Given the description of an element on the screen output the (x, y) to click on. 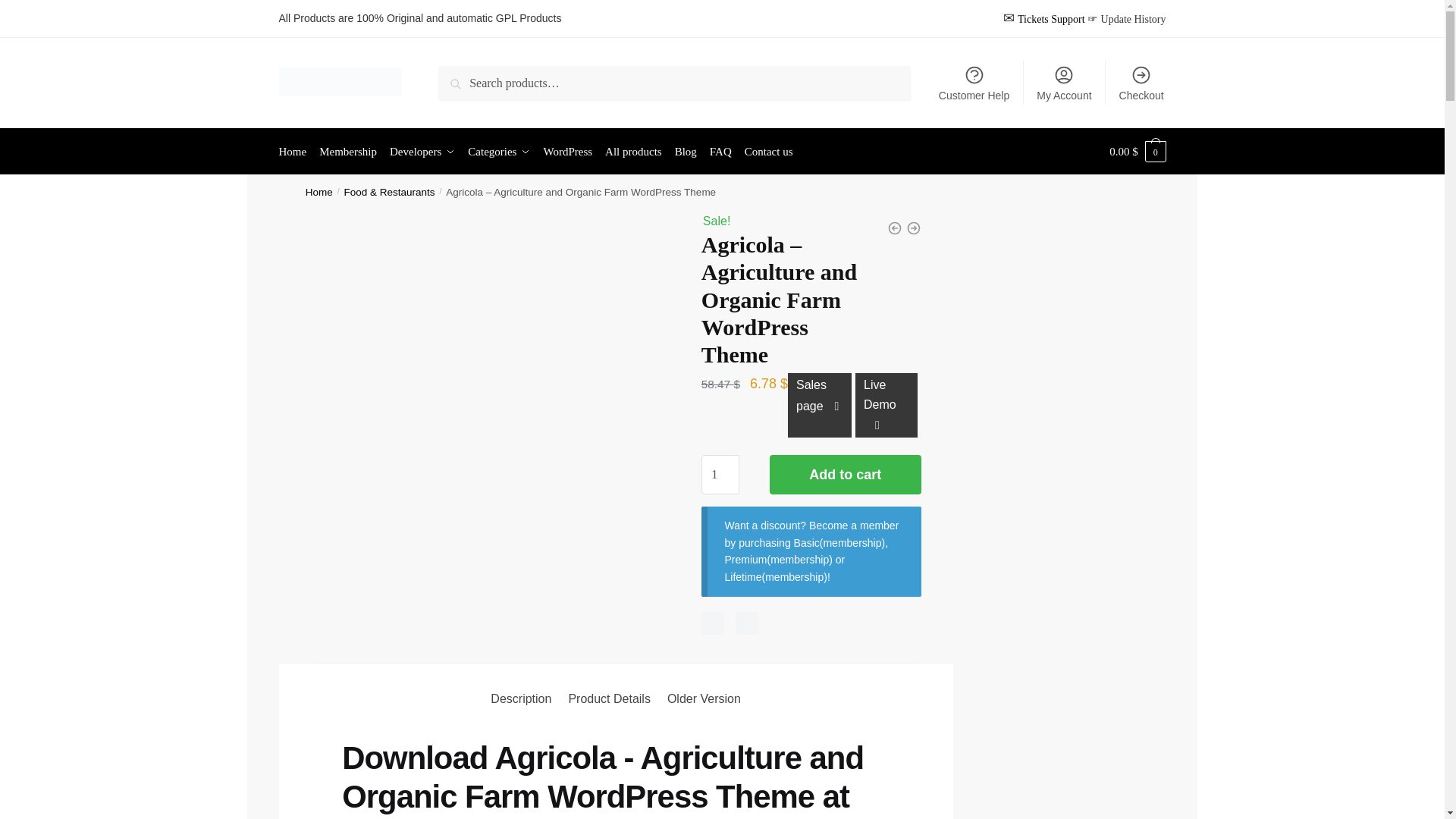
Tickets Support (1050, 19)
1 (720, 474)
Membership (347, 151)
My Account (1063, 82)
Developers (422, 151)
Customer Help (974, 82)
Checkout (1141, 82)
Update History (1133, 19)
Search (459, 76)
View your shopping cart (1137, 151)
